Given the description of an element on the screen output the (x, y) to click on. 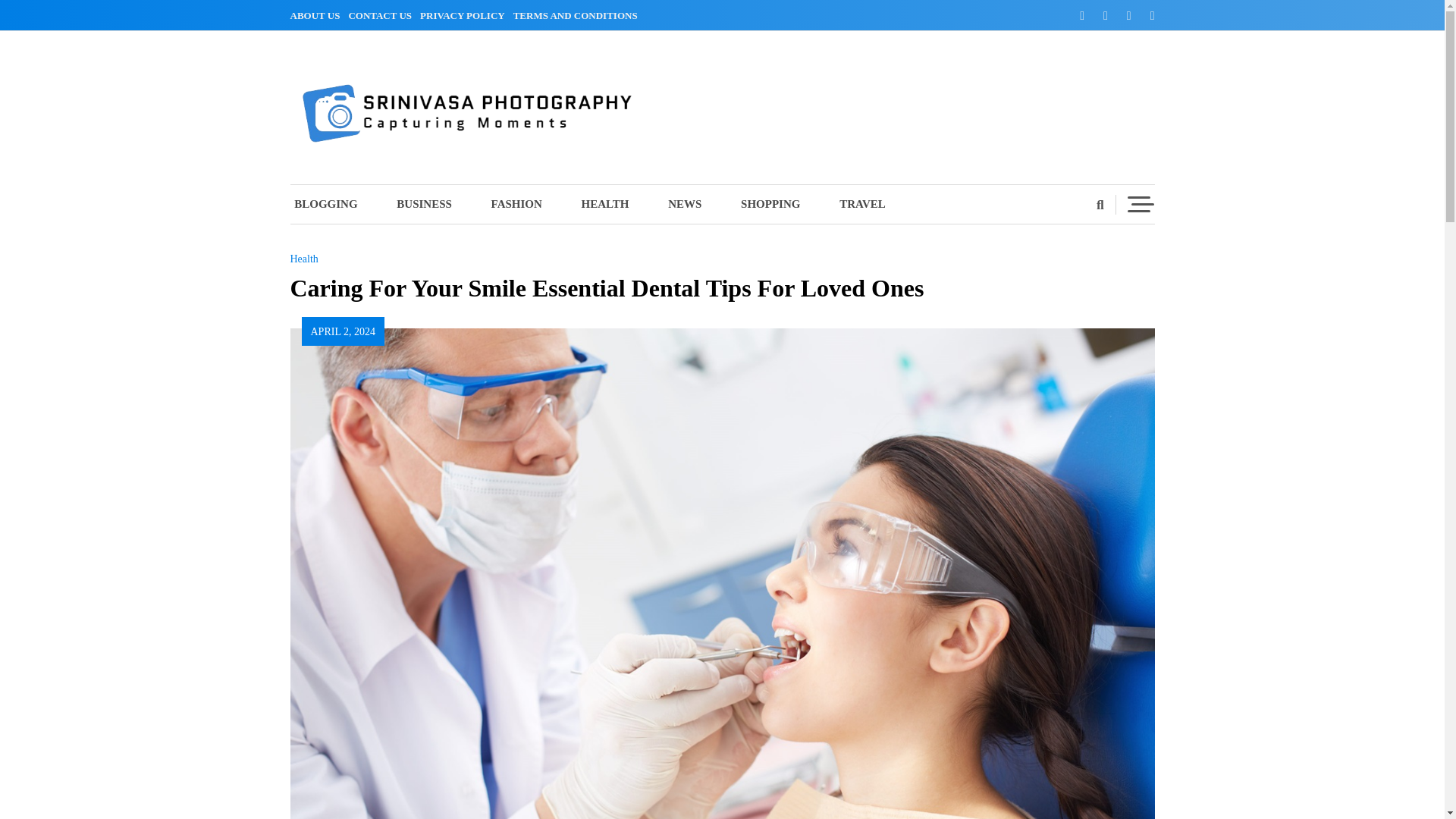
TRAVEL (862, 204)
SHOPPING (770, 204)
BLOGGING (334, 204)
PRIVACY POLICY (465, 15)
NEWS (684, 204)
FASHION (516, 204)
BUSINESS (424, 204)
ABOUT US (317, 15)
TERMS AND CONDITIONS (578, 15)
Srinivasa Photography (430, 172)
